Given the description of an element on the screen output the (x, y) to click on. 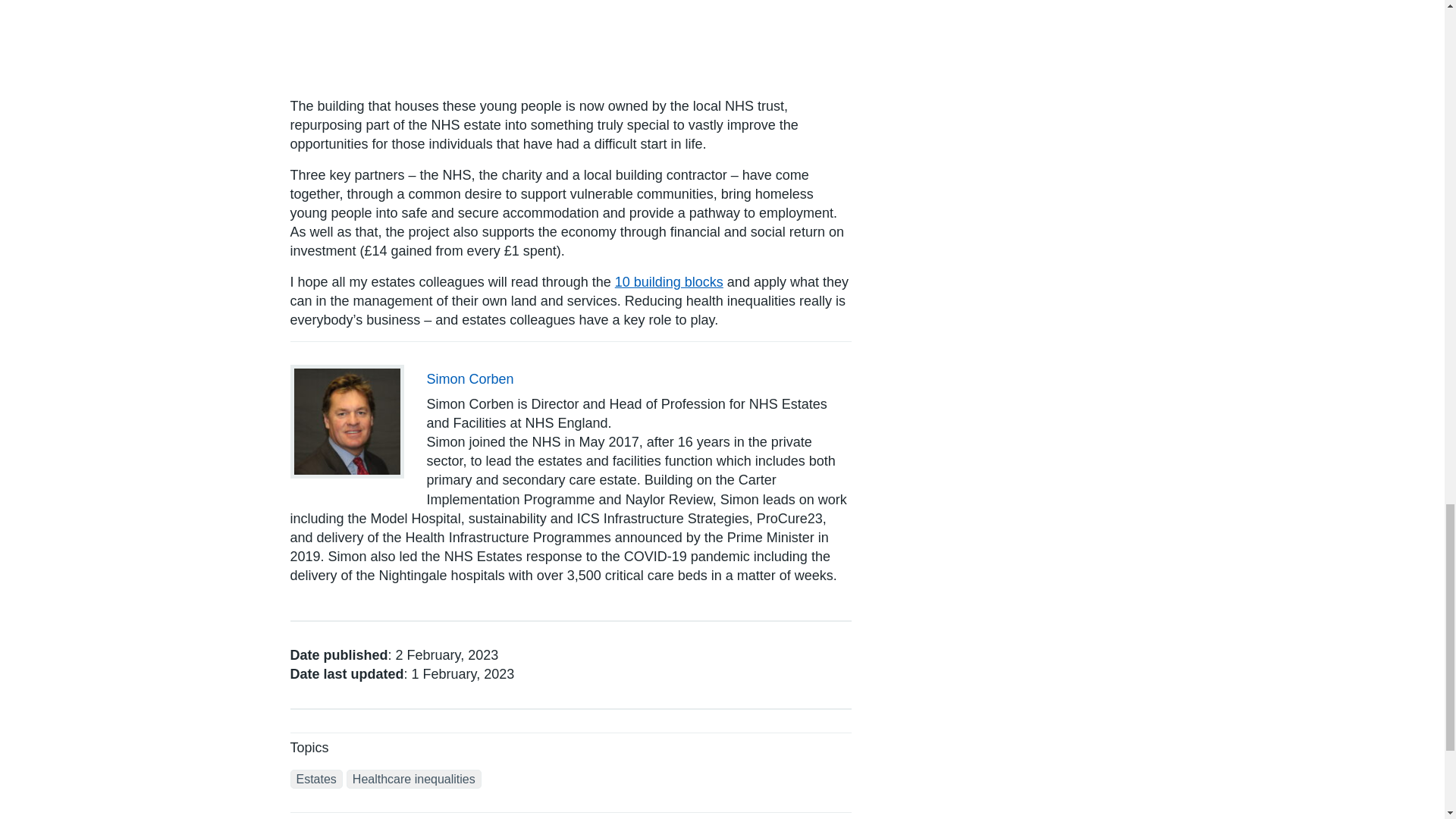
10 building blocks (668, 281)
Estates (315, 778)
Healthcare inequalities (413, 778)
Simon Corben (469, 378)
Posts by Simon Corben (469, 378)
